Given the description of an element on the screen output the (x, y) to click on. 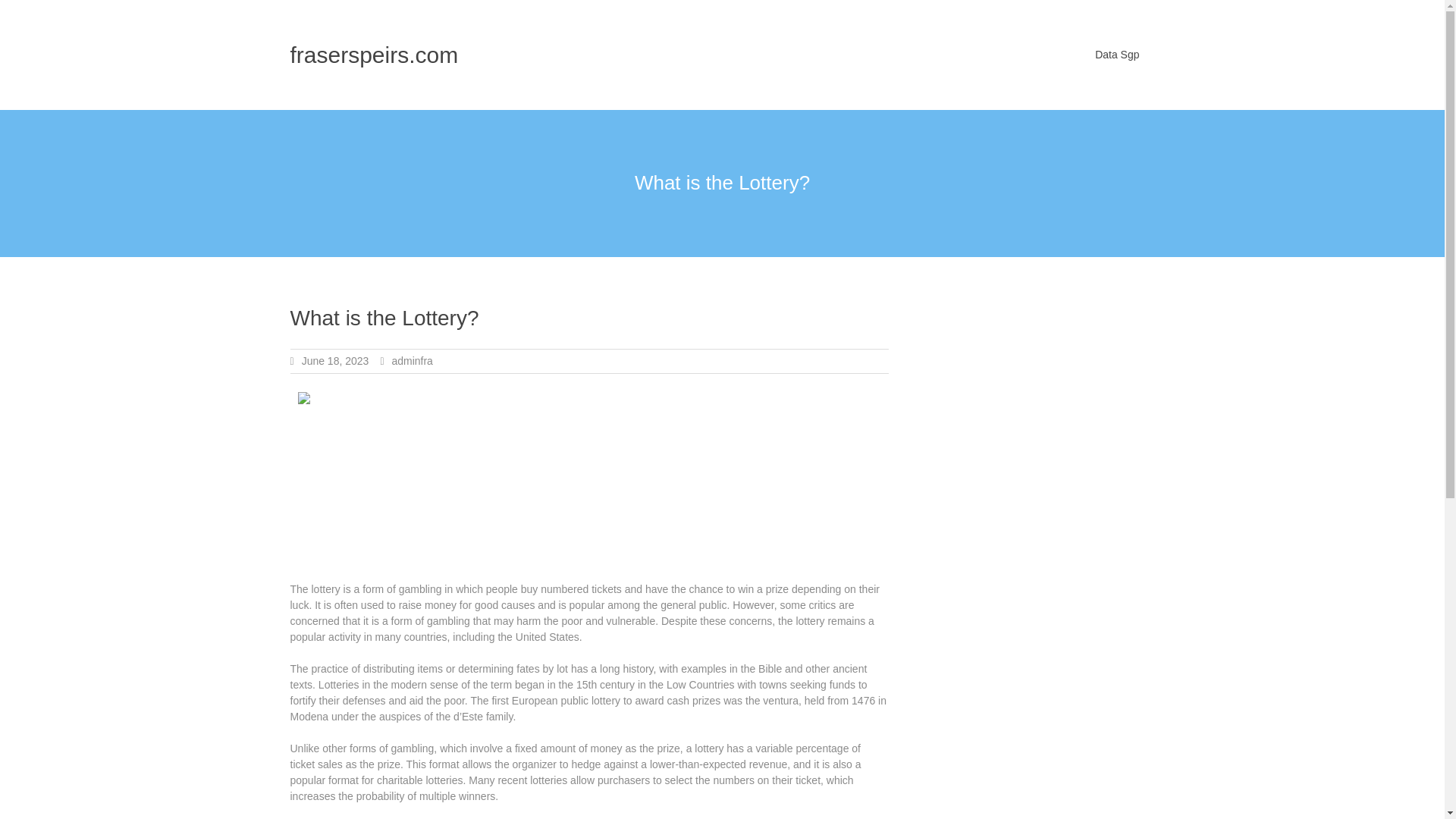
Data Sgp (1117, 55)
fraserspeirs.com (373, 54)
June 18, 2023 (335, 360)
adminfra (411, 360)
